Given the description of an element on the screen output the (x, y) to click on. 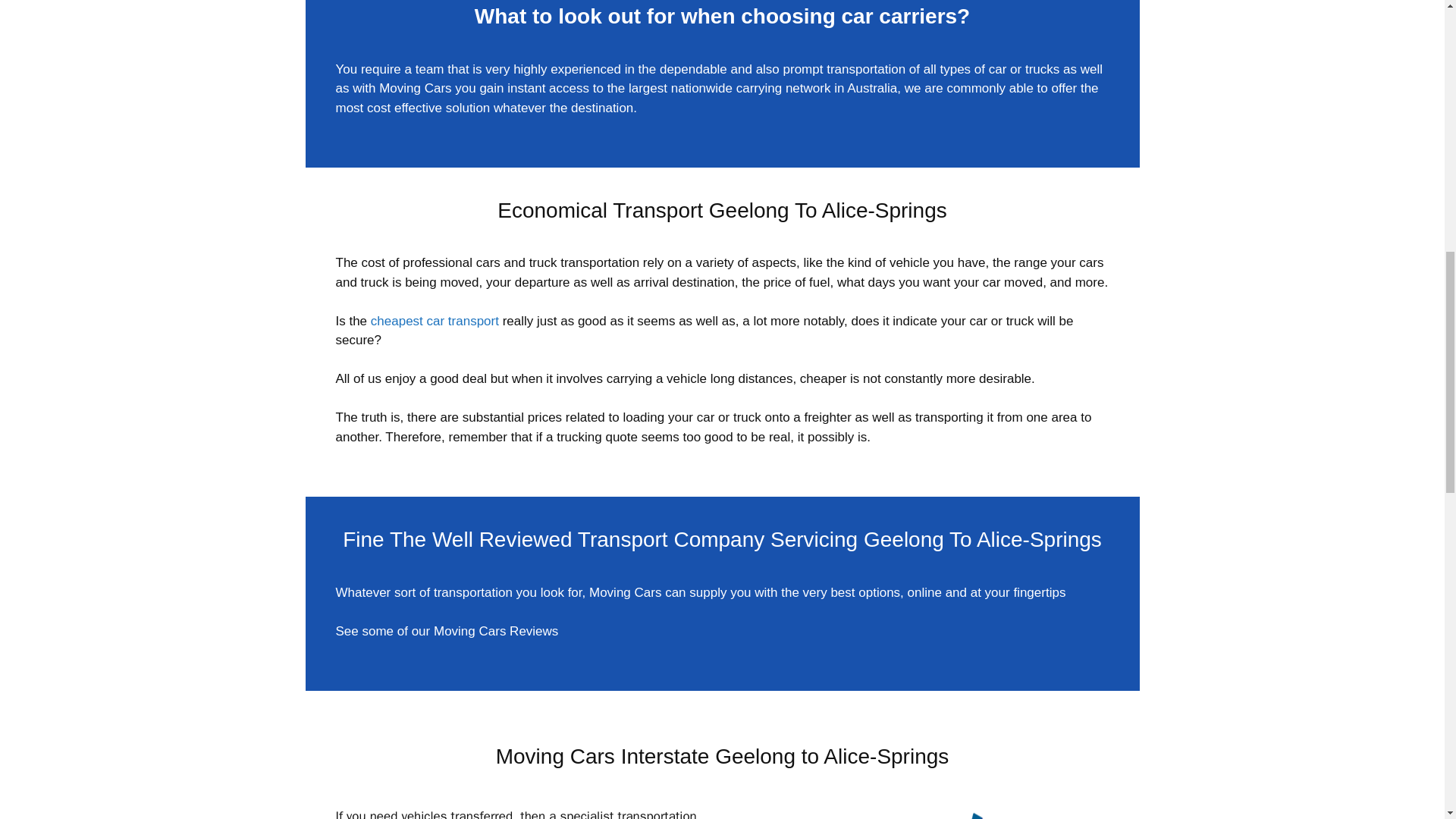
Moving Cars (414, 88)
Interstate Vehicle Moving (922, 812)
cheapest car transport (435, 320)
Moving Cars Reviews (495, 631)
